Given the description of an element on the screen output the (x, y) to click on. 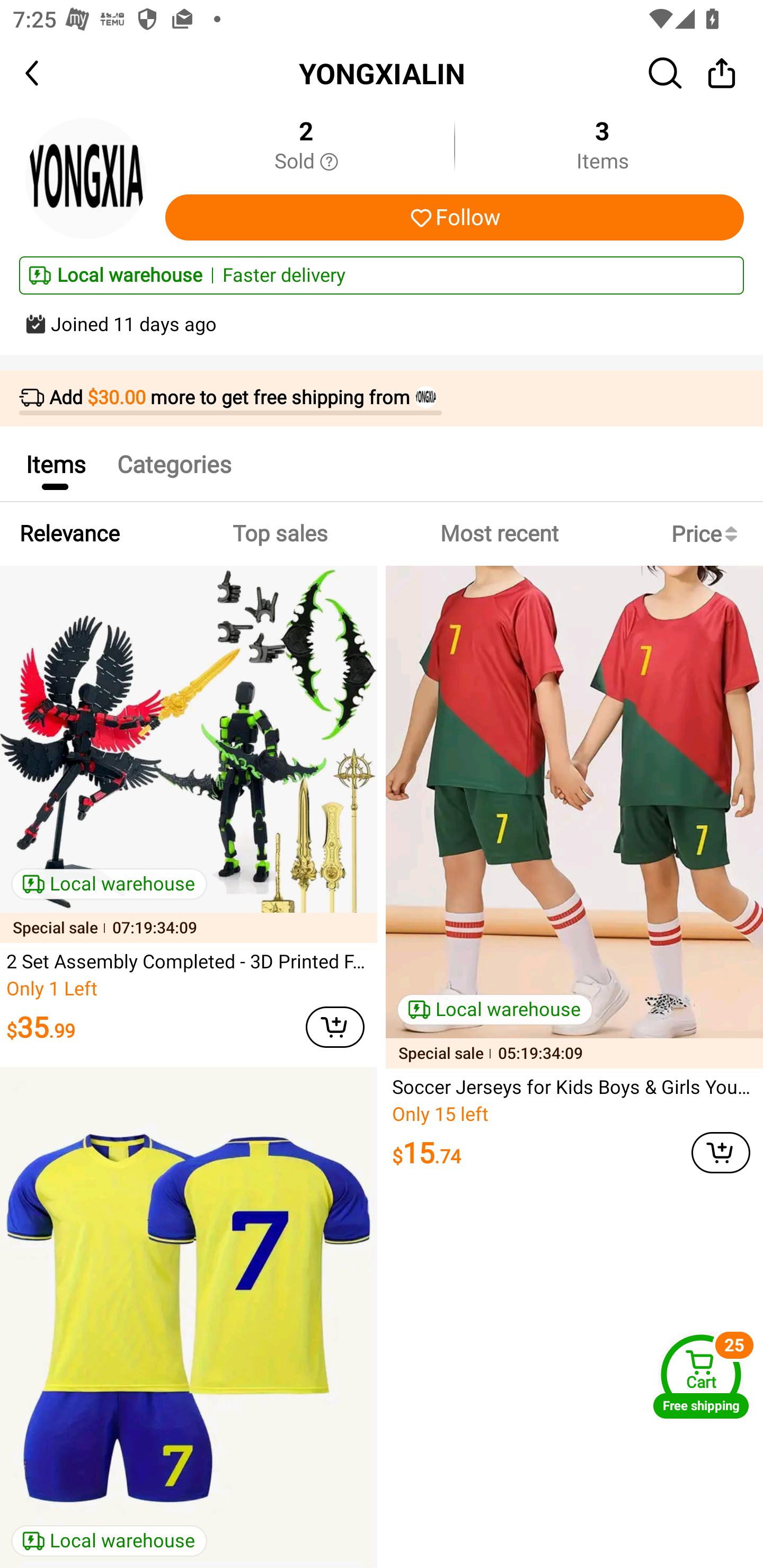
back (47, 72)
YONGXIALIN (381, 72)
share (721, 72)
Sold (306, 161)
Local warehouse Faster delivery (381, 275)
 Add $30.00 more to get free shipping from  (381, 398)
Items (55, 463)
Categories (174, 463)
Relevance (69, 533)
Top sales (279, 533)
Most recent (498, 533)
Price (707, 533)
Cart Free shipping Cart (701, 1375)
